Given the description of an element on the screen output the (x, y) to click on. 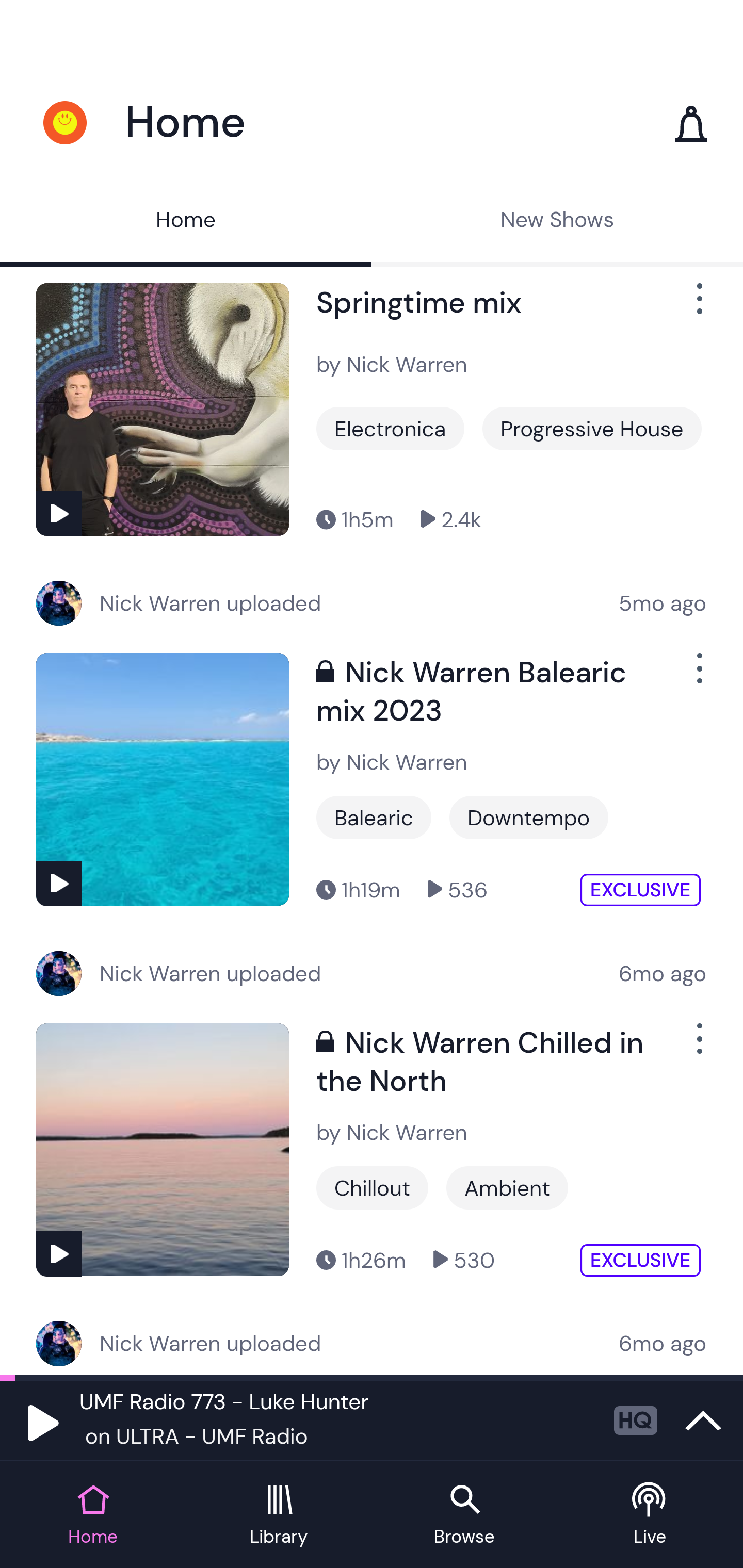
Home (185, 221)
New Shows (557, 221)
Show Options Menu Button (697, 306)
Electronica (390, 428)
Progressive House (591, 428)
Show Options Menu Button (697, 675)
Balearic (373, 817)
Downtempo (528, 817)
Show Options Menu Button (697, 1046)
Chillout (371, 1187)
Ambient (507, 1187)
Home tab Home (92, 1515)
Library tab Library (278, 1515)
Browse tab Browse (464, 1515)
Live tab Live (650, 1515)
